Given the description of an element on the screen output the (x, y) to click on. 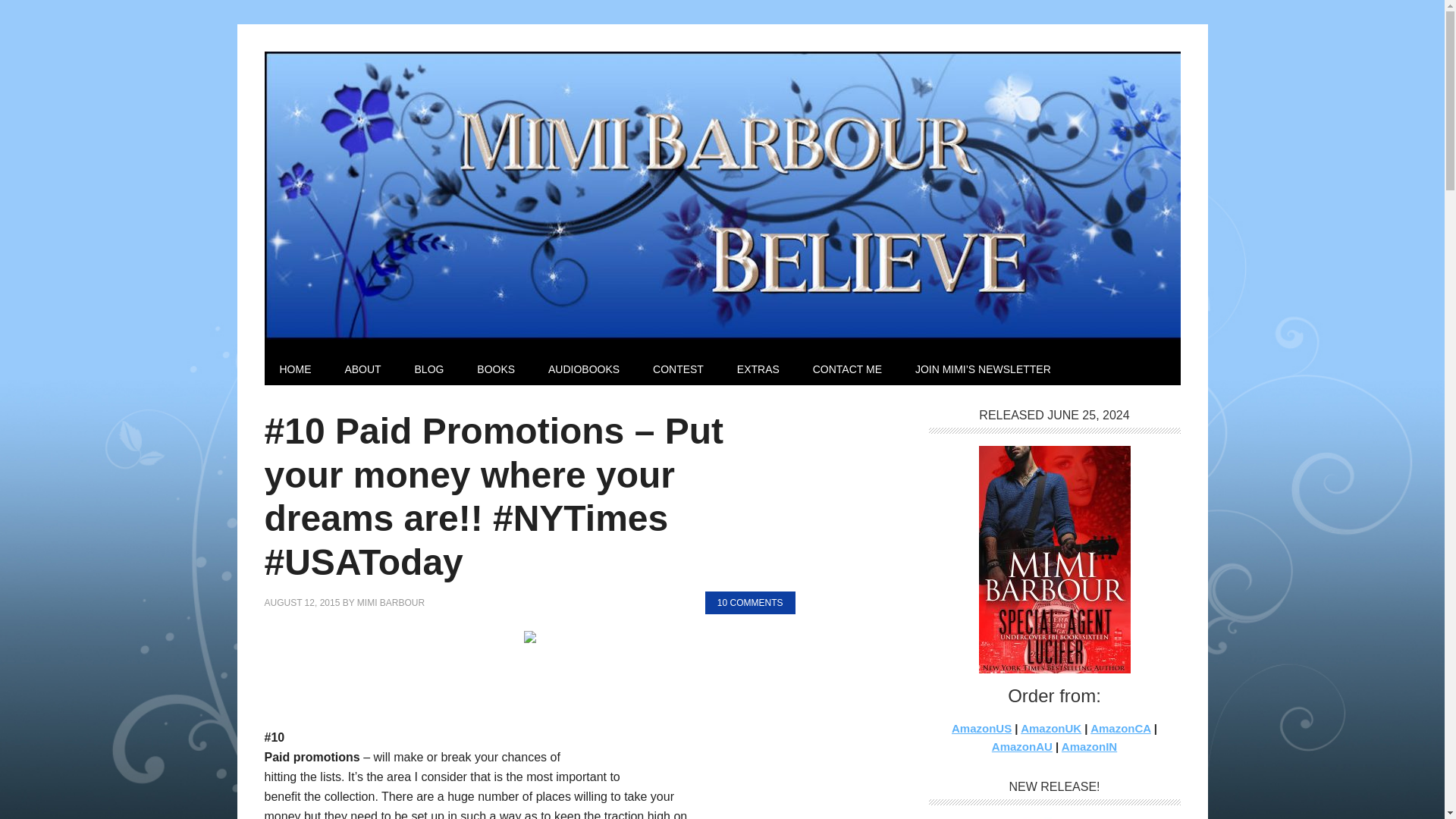
BLOG (429, 368)
ABOUT (362, 368)
HOME (294, 368)
MIMI BARBOUR (390, 602)
AUDIOBOOKS (583, 368)
EXTRAS (758, 368)
Released June 25, 2024 (1053, 559)
10 COMMENTS (749, 602)
BOOKS (495, 368)
CONTACT ME (846, 368)
CONTEST (678, 368)
